Given the description of an element on the screen output the (x, y) to click on. 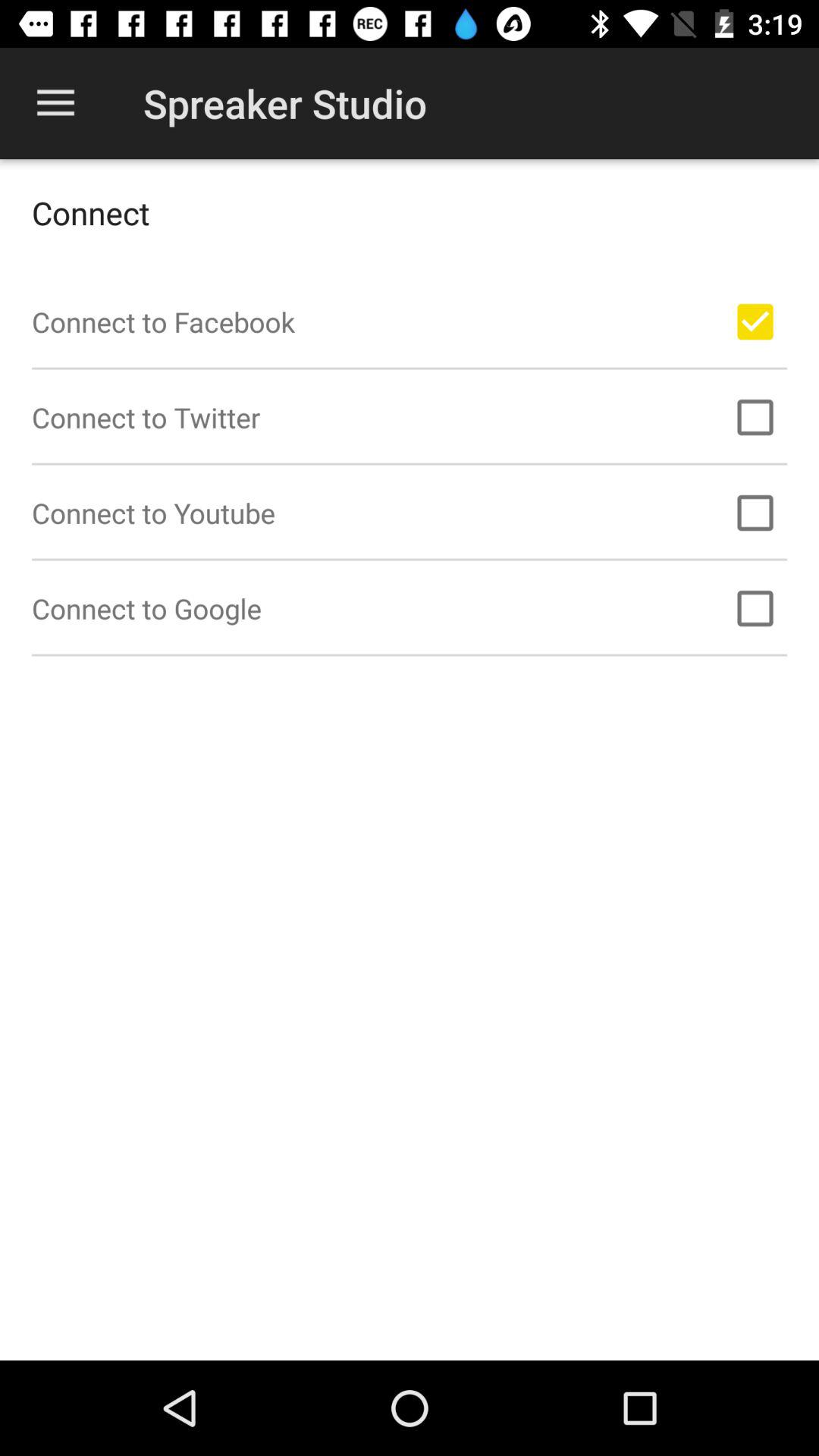
click item at the top left corner (55, 103)
